Given the description of an element on the screen output the (x, y) to click on. 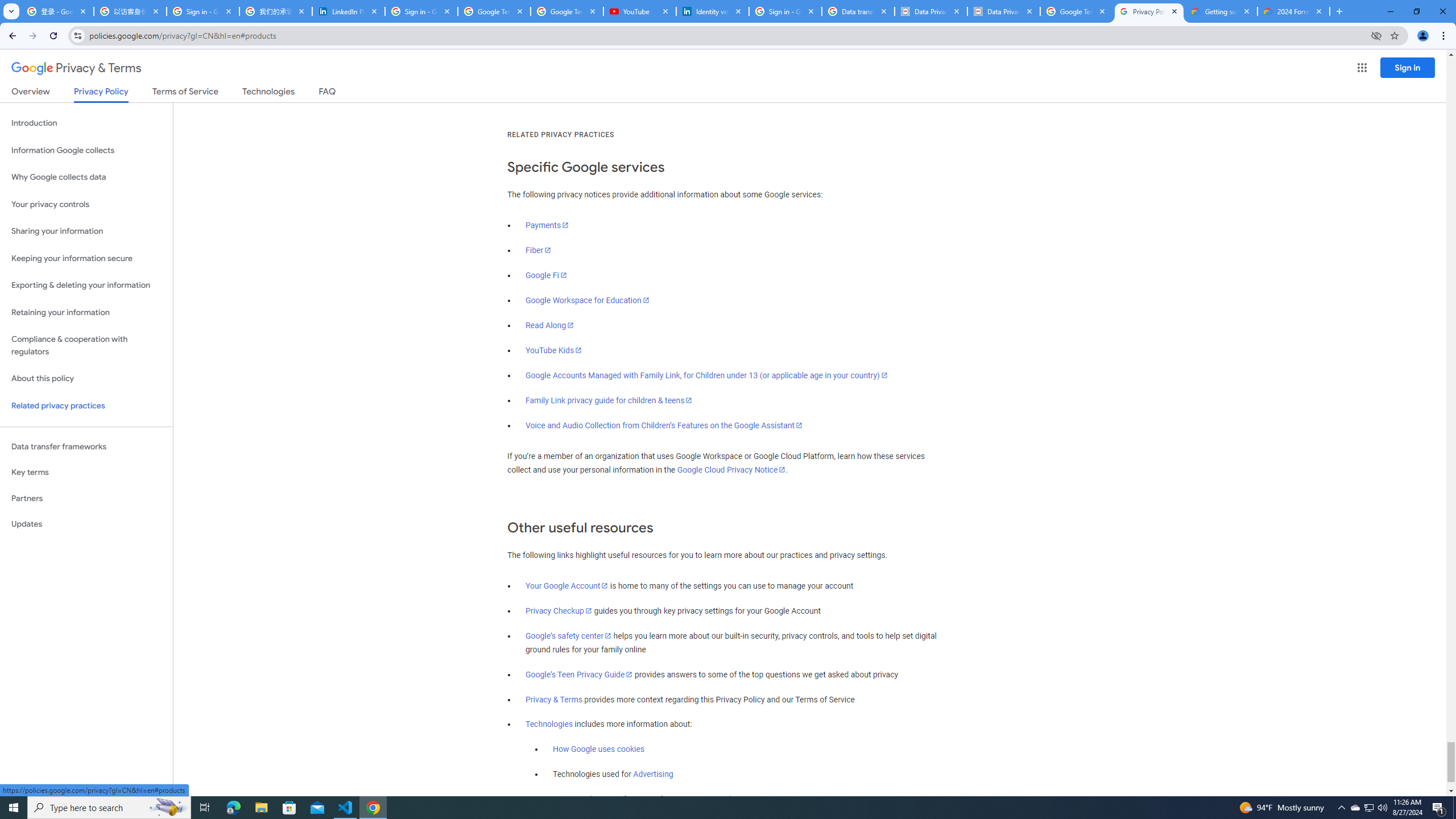
Google Workspace for Education (587, 299)
Your Google Account (566, 585)
Fiber (538, 249)
Data Privacy Framework (1003, 11)
Introduction (86, 122)
Retaining your information (86, 312)
YouTube (639, 11)
LinkedIn Privacy Policy (348, 11)
YouTube Kids (553, 350)
